Given the description of an element on the screen output the (x, y) to click on. 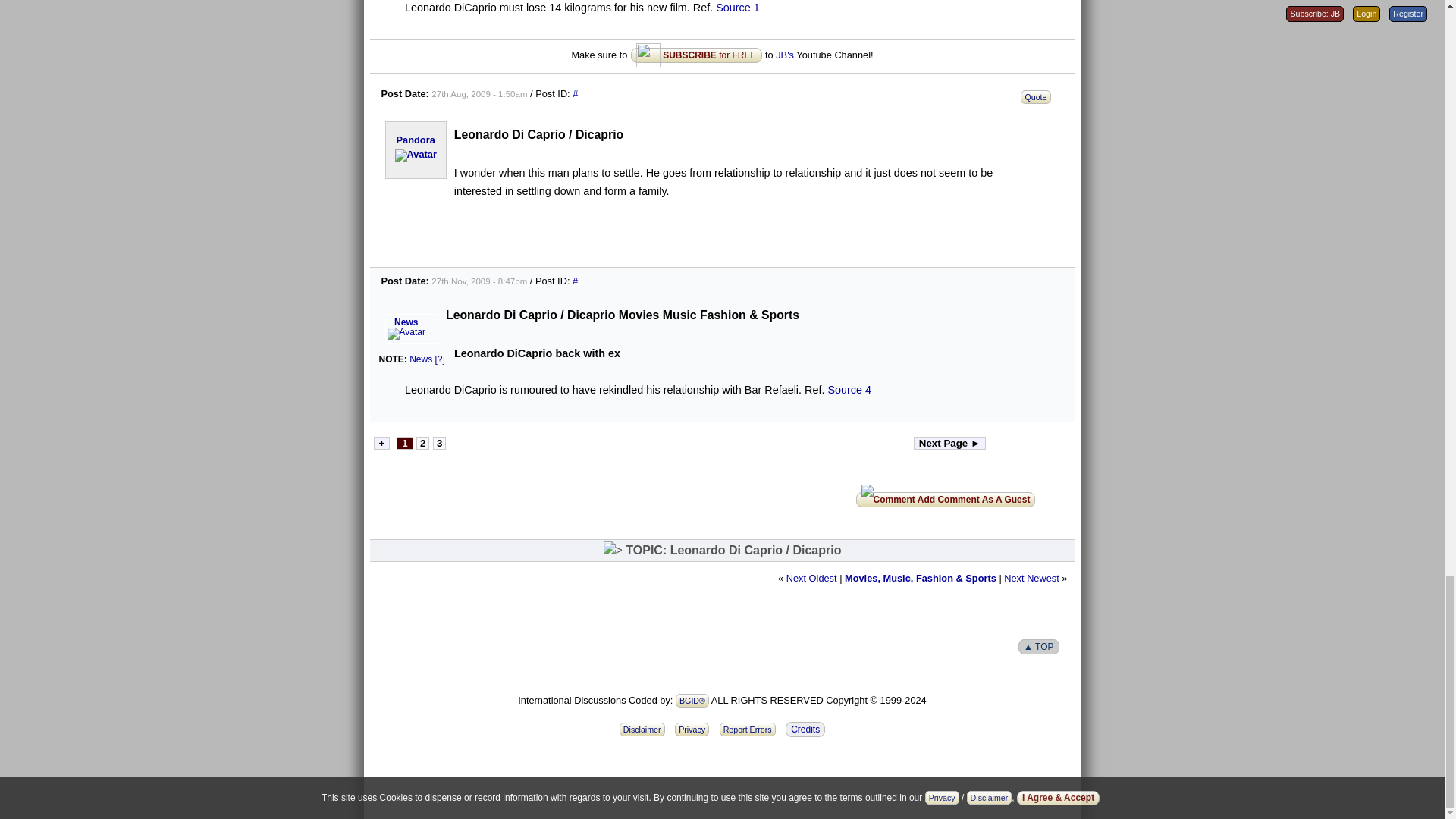
Jump to page... (381, 441)
